Given the description of an element on the screen output the (x, y) to click on. 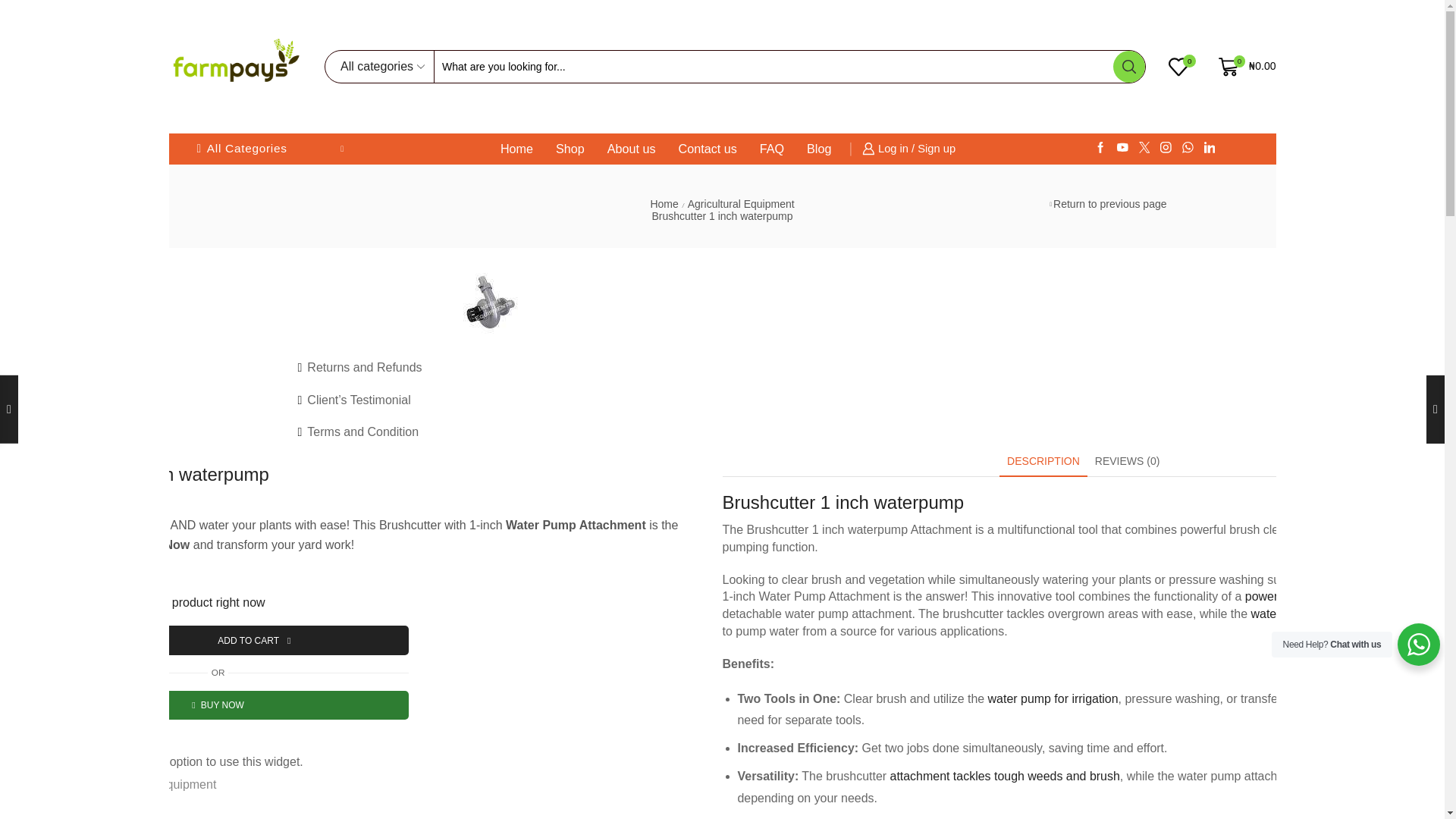
Shop (570, 148)
Contact us (707, 148)
FAQ (772, 148)
Brushcutter 1 inch waterpump (491, 301)
About us (631, 148)
Blog (818, 148)
Home (516, 148)
